Given the description of an element on the screen output the (x, y) to click on. 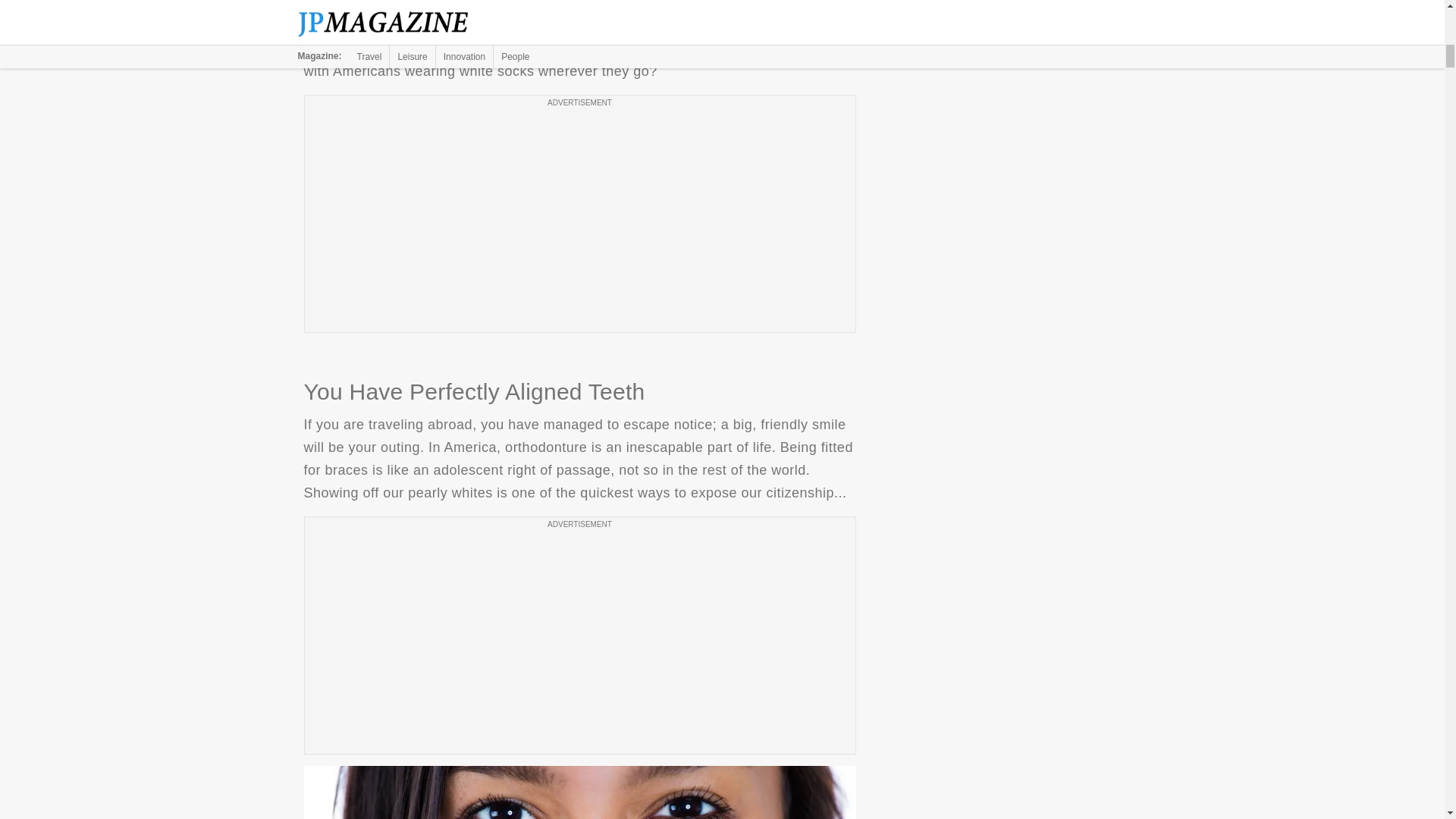
You Have Perfectly Aligned Teeth (579, 792)
